Given the description of an element on the screen output the (x, y) to click on. 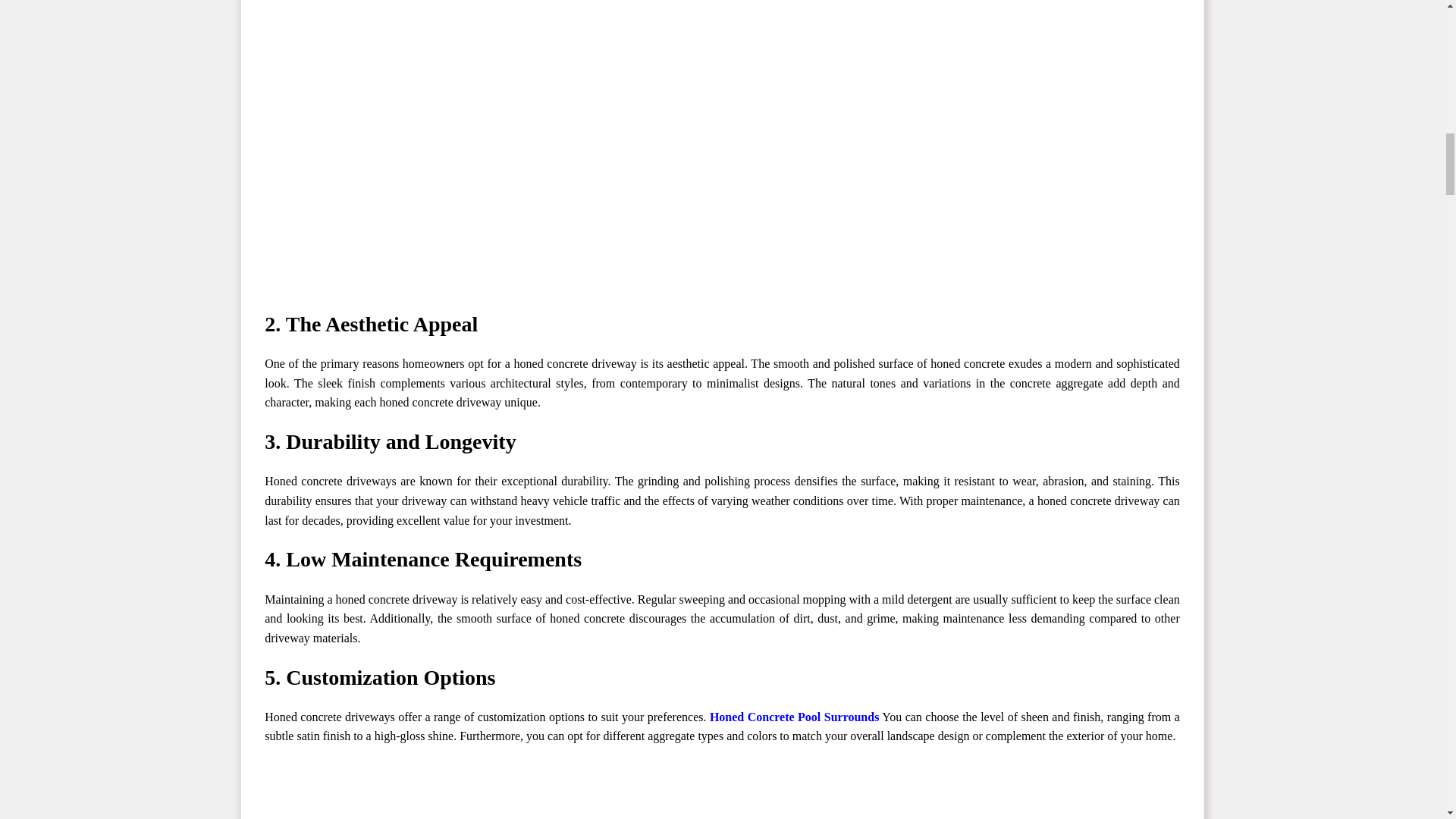
Honed Concrete Pool Surrounds (794, 716)
